Given the description of an element on the screen output the (x, y) to click on. 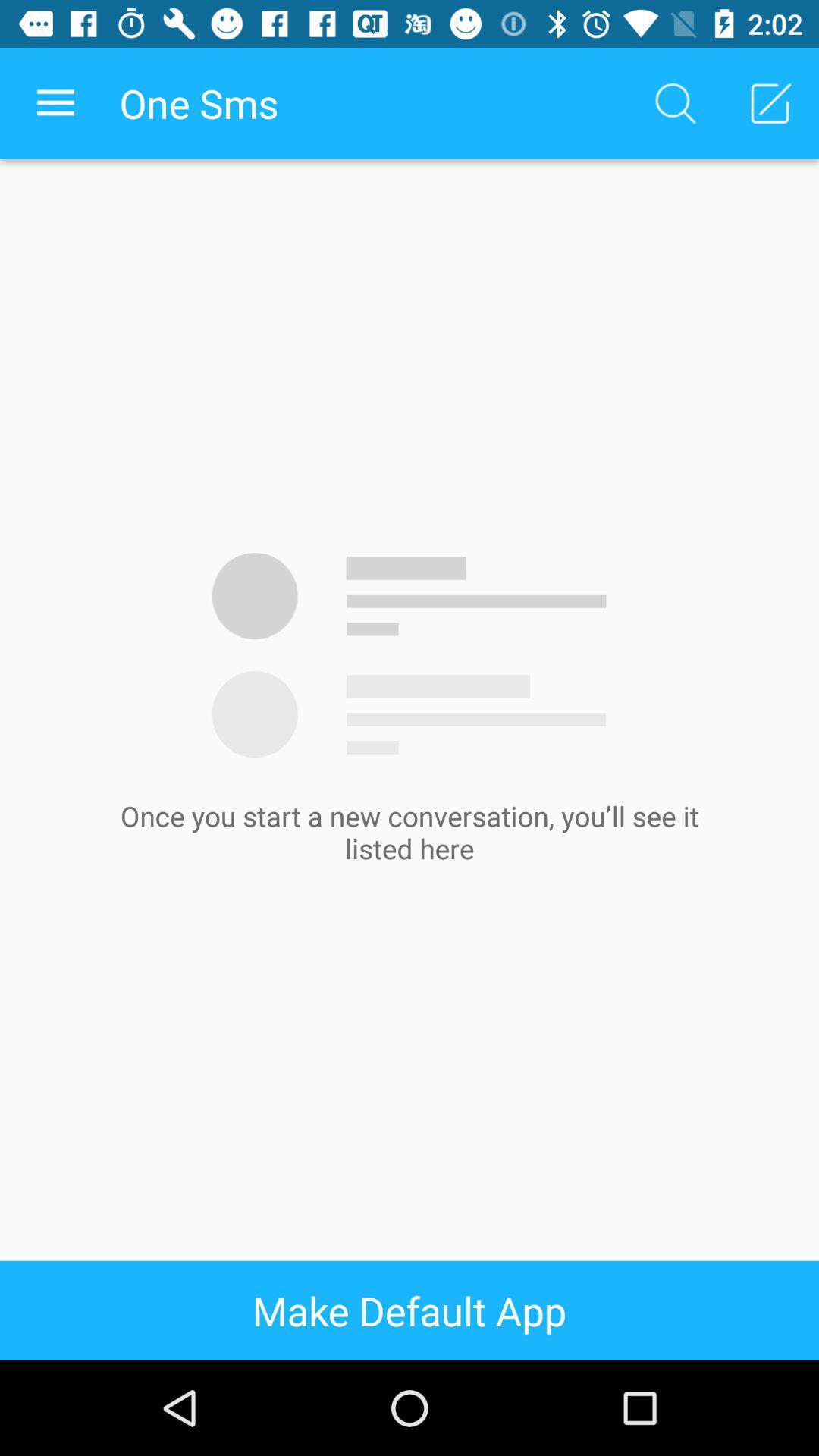
turn on app next to one sms item (55, 103)
